Given the description of an element on the screen output the (x, y) to click on. 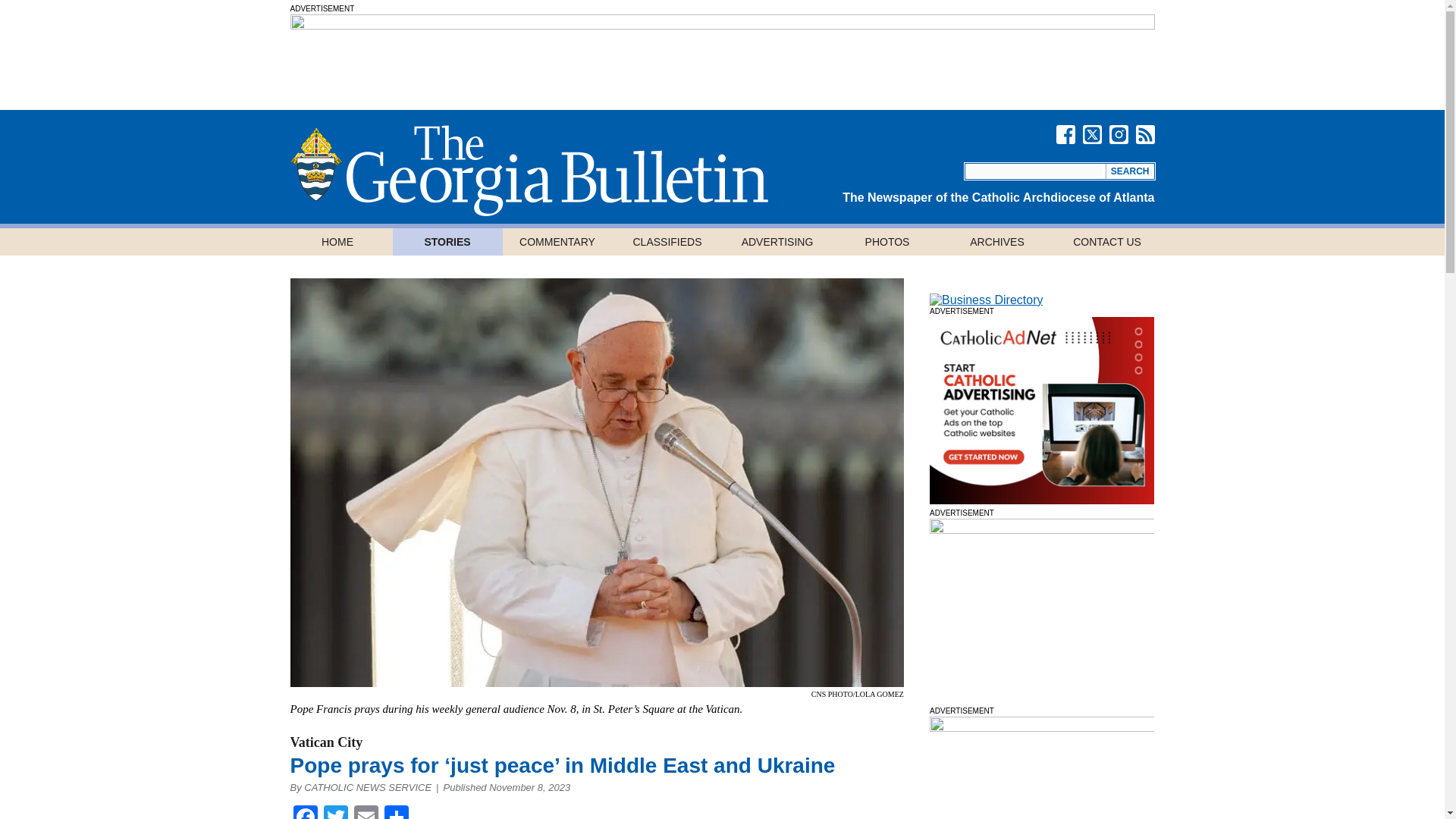
STORIES (447, 241)
COMMENTARY (556, 241)
Twitter (335, 812)
Email (365, 812)
Search (1129, 171)
Follow us on Instagram (1117, 134)
Follow us on Twitter (1092, 134)
Georgia Bulletin (528, 170)
Grab our RSS Feed (1144, 134)
Find us on Facebook (1064, 134)
HOME (336, 241)
CLASSIFIEDS (667, 241)
Search (1129, 171)
Facebook (304, 812)
Read more articles from Vatican City (325, 742)
